Given the description of an element on the screen output the (x, y) to click on. 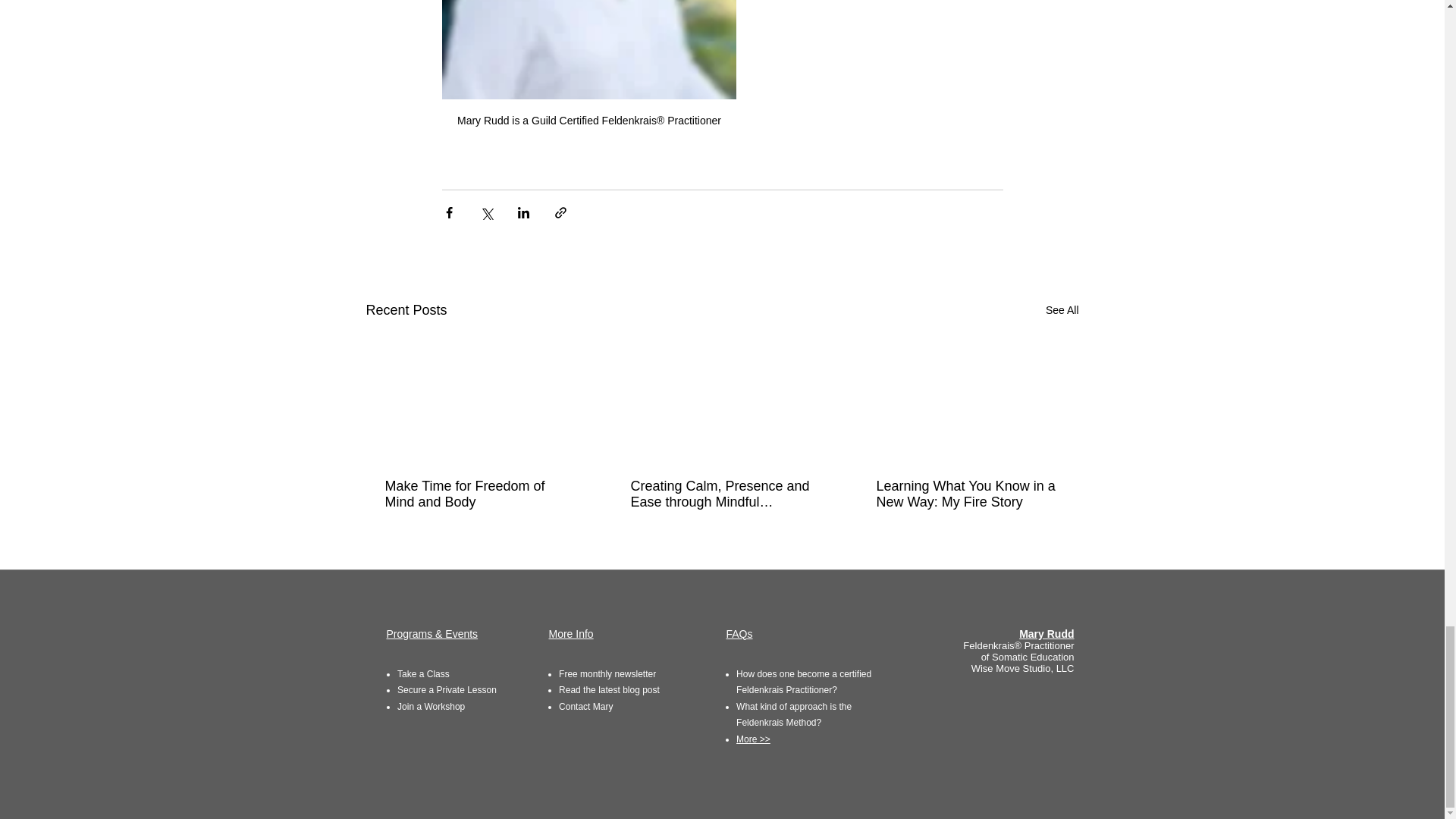
How does one become a certified Feldenkrais Practitioner? (803, 682)
Read the latest blog post (609, 689)
What kind of approach is the Feldenkrais Method? (793, 714)
Learning What You Know in a New Way: My Fire Story (967, 494)
See All (1061, 310)
FAQs (739, 633)
Join a Workshop (430, 706)
Secure a Private Lesson (446, 689)
Contact Mary (585, 706)
Creating Calm, Presence and Ease through Mindful Movement (721, 494)
